Given the description of an element on the screen output the (x, y) to click on. 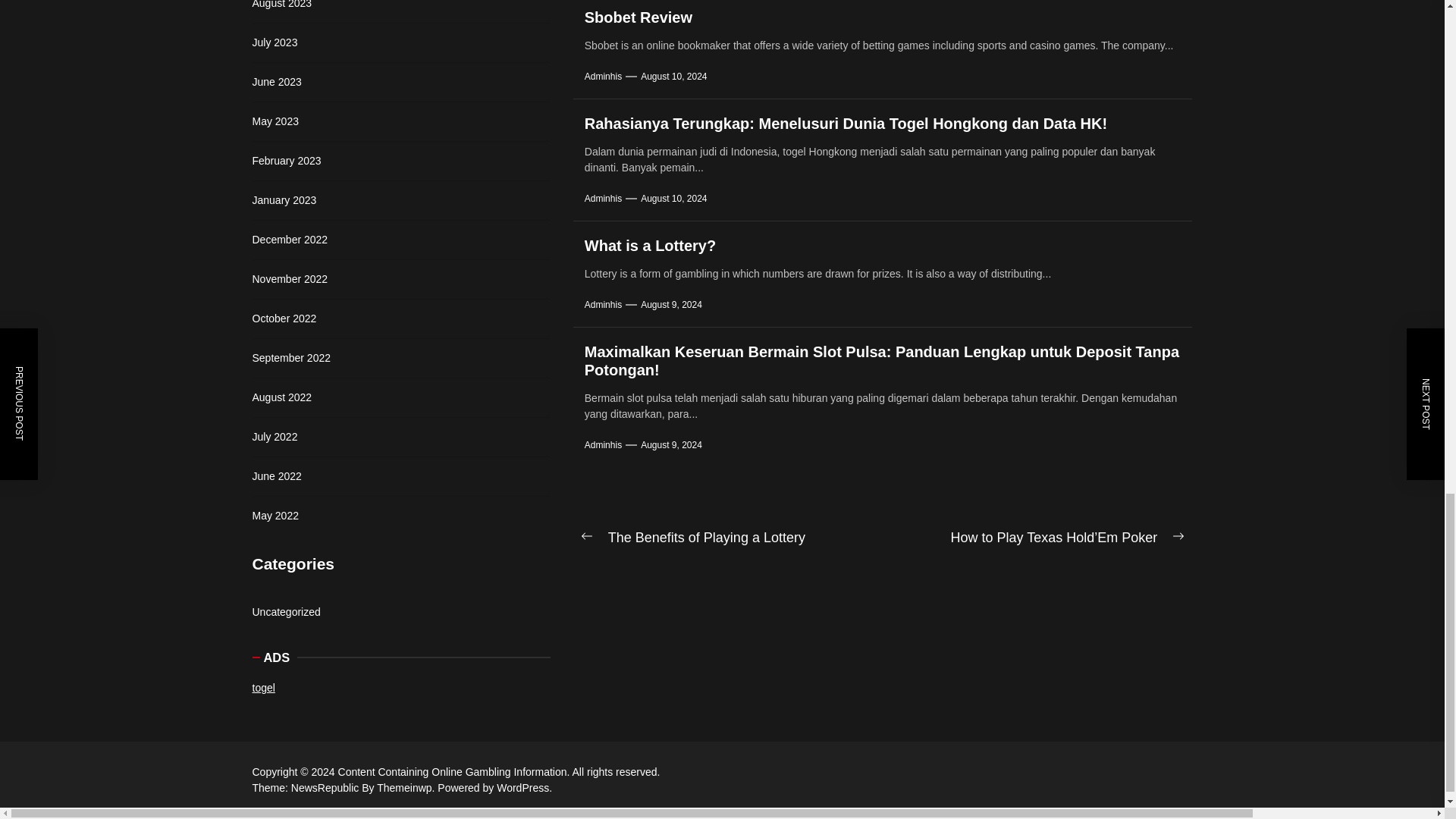
Content Containing Online Gambling Information (454, 771)
Sbobet Review (639, 17)
Themeinwp (407, 787)
WordPress (523, 787)
August 10, 2024 (673, 76)
Adminhis (603, 76)
